Given the description of an element on the screen output the (x, y) to click on. 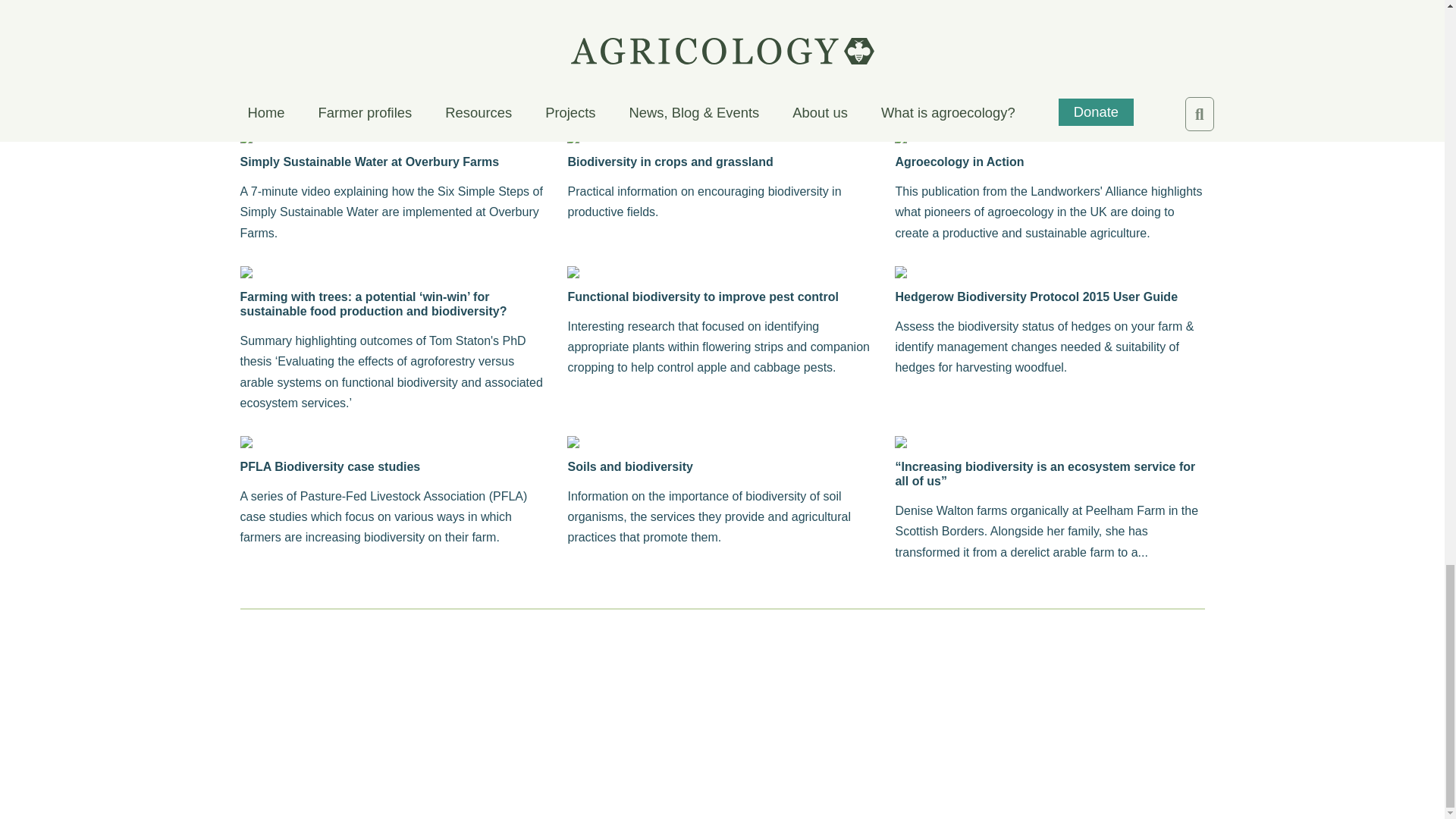
Simply Sustainable Integrated Pest Management (394, 6)
Biodiversity in crops and grassland (721, 161)
Simply Sustainable Soils (721, 6)
Simply Sustainable Water (1049, 6)
Simply Sustainable Water at Overbury Farms (394, 161)
